Given the description of an element on the screen output the (x, y) to click on. 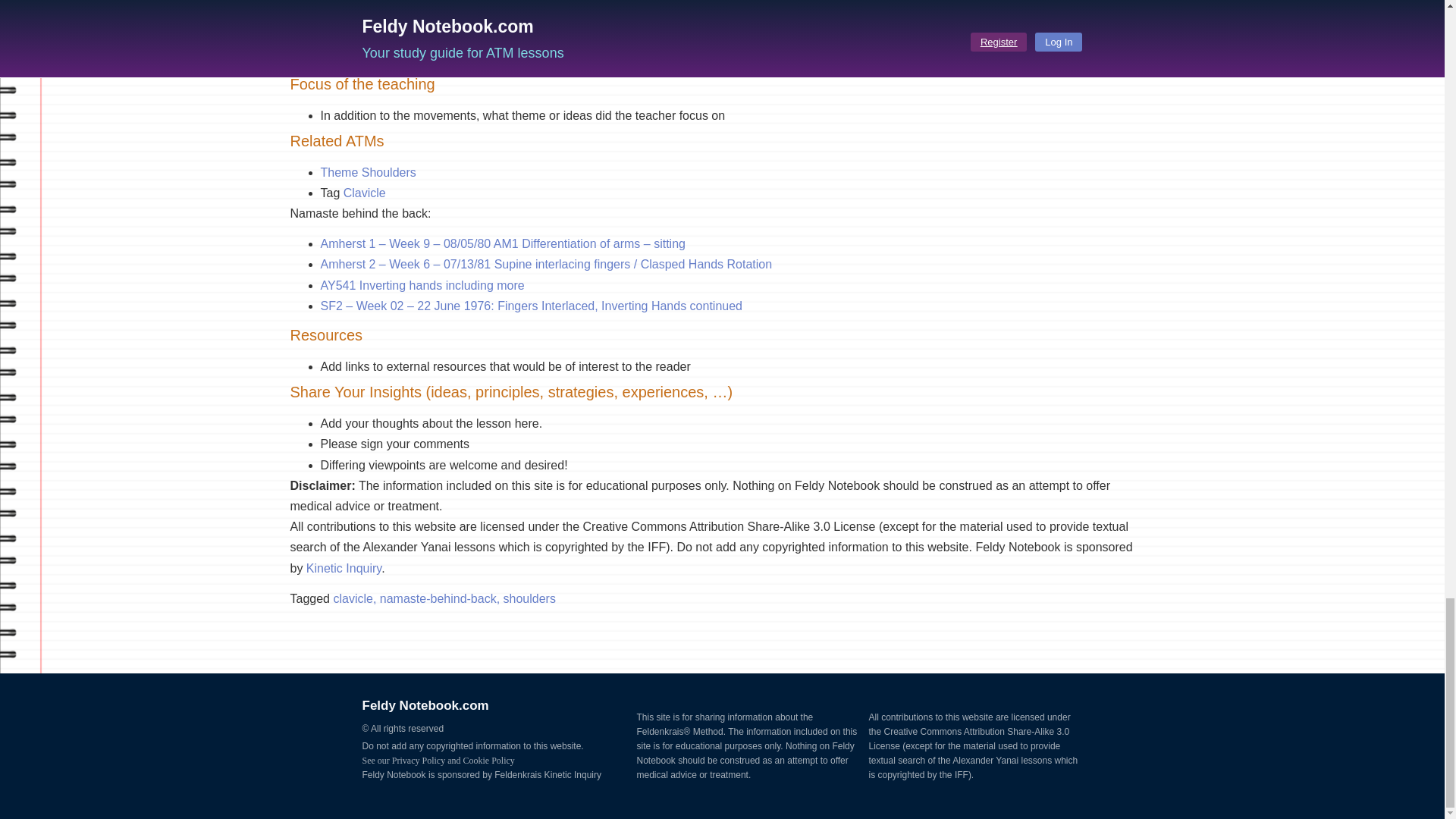
clavicle (364, 192)
Clavicle (364, 192)
Theme Shoulders (367, 172)
